Given the description of an element on the screen output the (x, y) to click on. 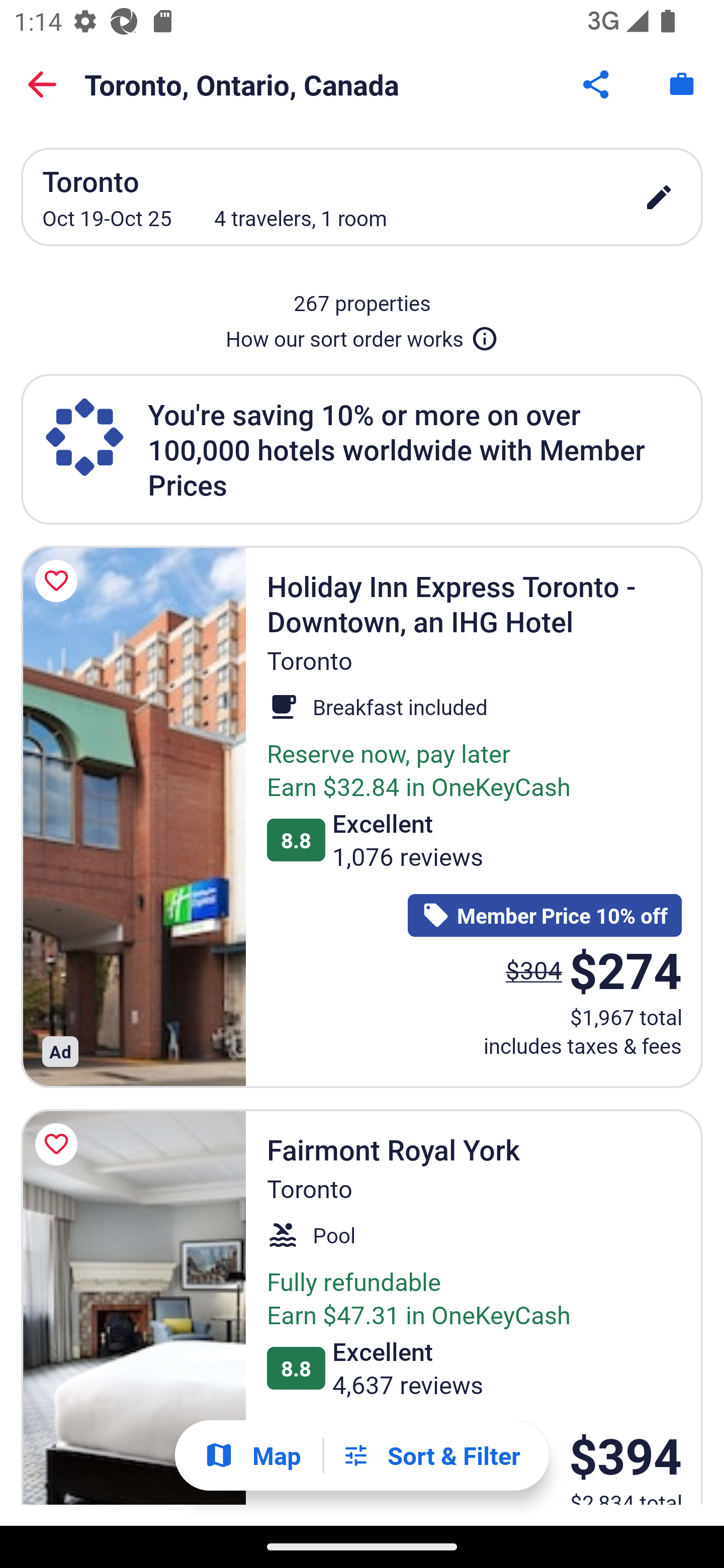
Back (42, 84)
Share Button (597, 84)
Trips. Button (681, 84)
Toronto Oct 19-Oct 25 4 travelers, 1 room edit (361, 196)
How our sort order works (361, 334)
$304 The price was $304 (533, 970)
Save Fairmont Royal York to a trip (59, 1144)
Fairmont Royal York (133, 1306)
Filters Sort & Filter Filters Button (430, 1455)
Show map Map Show map Button (252, 1455)
